Given the description of an element on the screen output the (x, y) to click on. 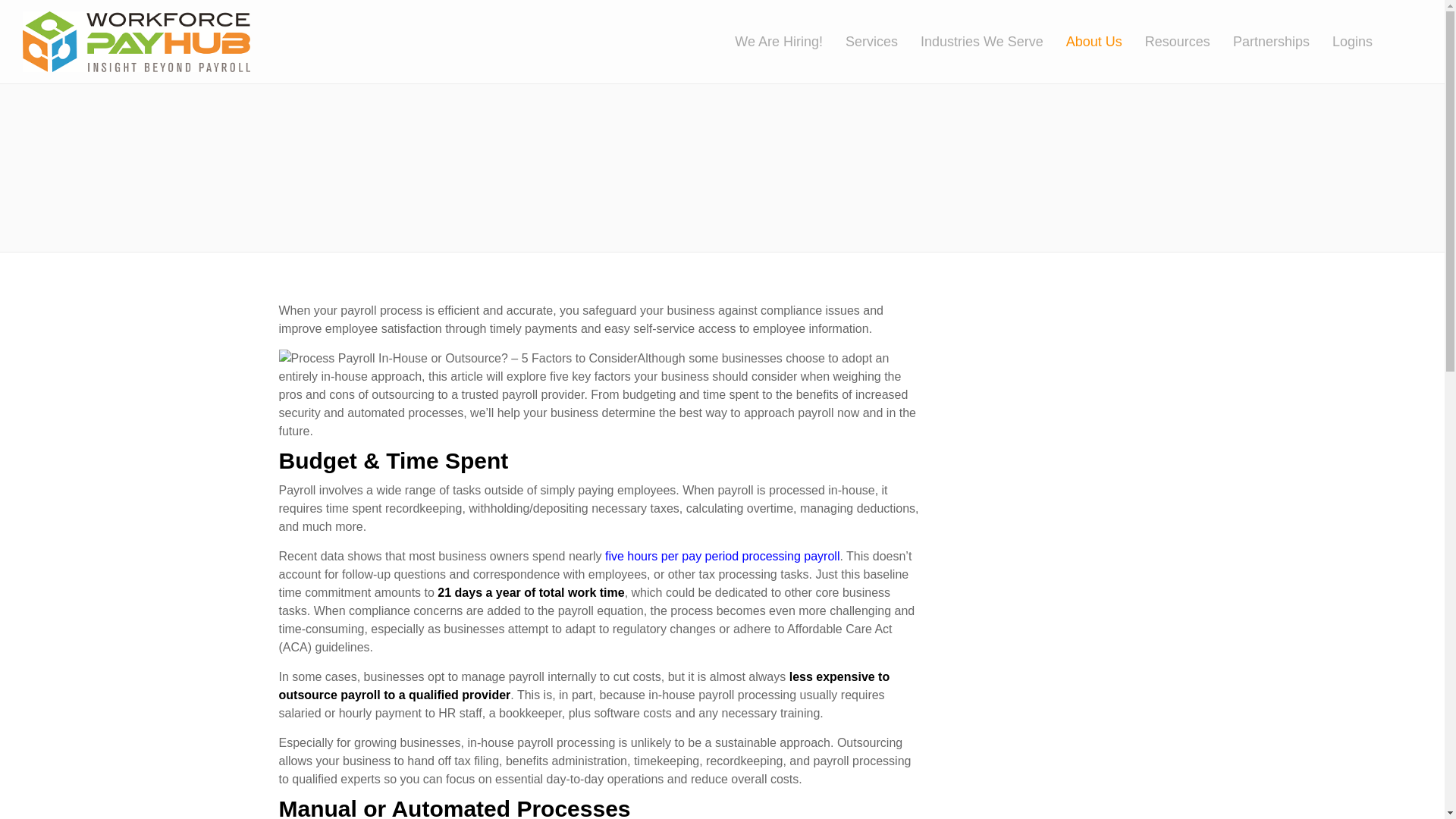
five hours per pay period processing payroll (722, 555)
Resources (1188, 41)
About Us (1104, 41)
Partnerships (1282, 41)
26cce76f-eb31-4f69-a0ee-499e40bf6a68 (136, 41)
We Are Hiring! (790, 41)
Services (882, 41)
Industries We Serve (992, 41)
